Given the description of an element on the screen output the (x, y) to click on. 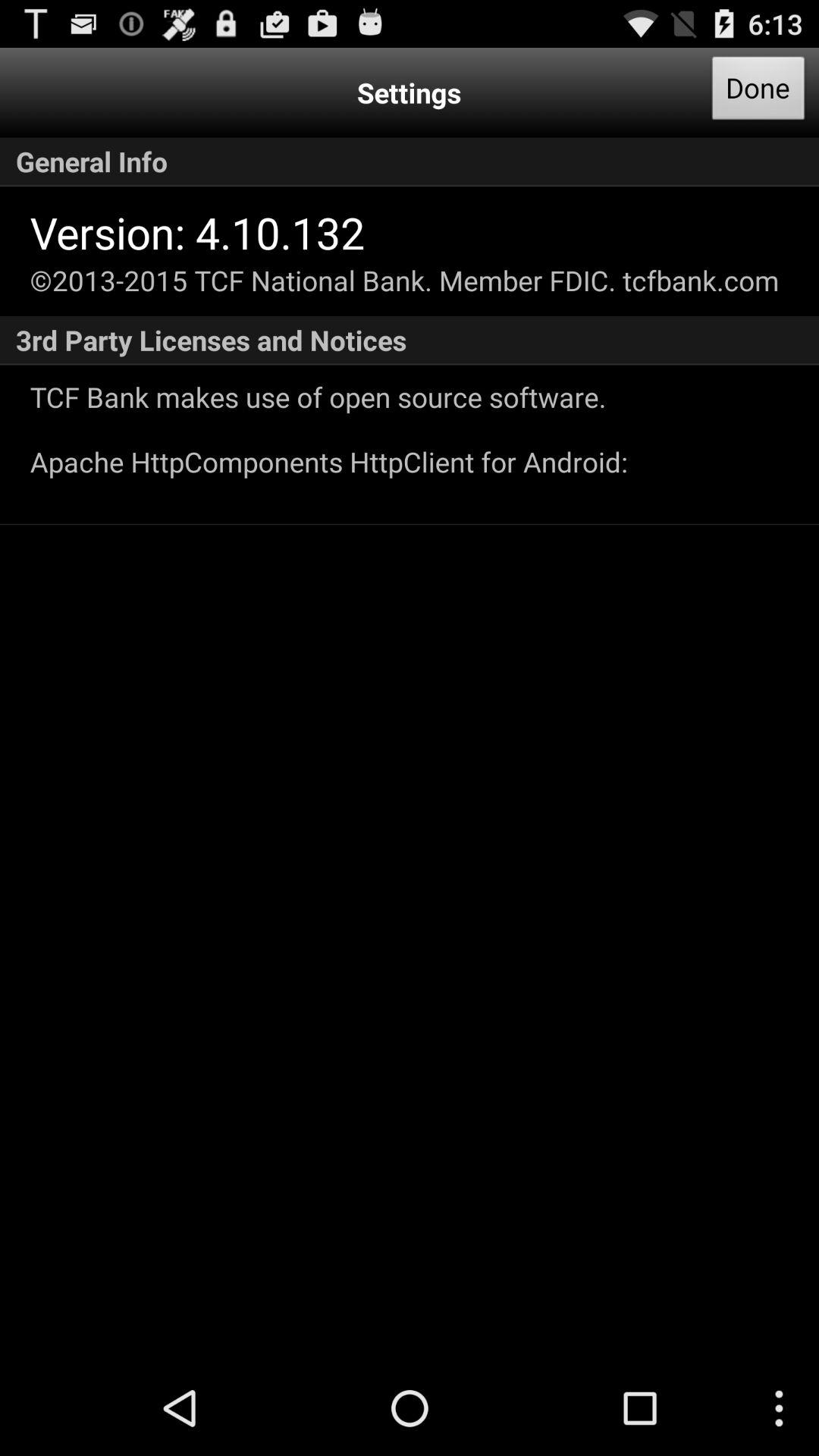
click icon above general info app (758, 92)
